Given the description of an element on the screen output the (x, y) to click on. 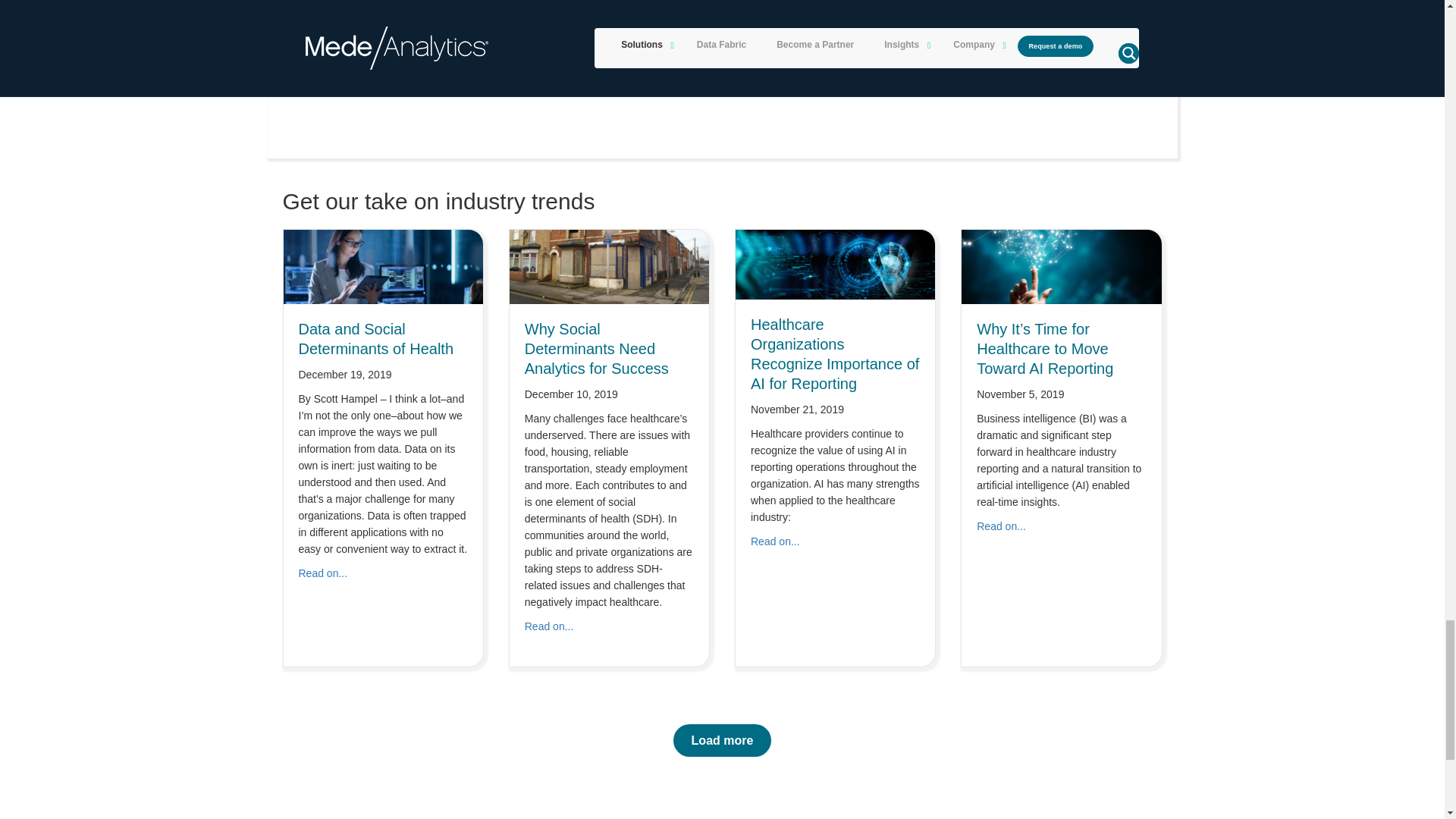
Why Social Determinants Need Analytics for Success (548, 626)
Why Social Determinants Need Analytics for Success (609, 265)
Why Social Determinants Need Analytics for Success (596, 348)
Data and Social Determinants of Health (322, 573)
Data and Social Determinants of Health (376, 339)
Data and Social Determinants of Health (383, 265)
